Given the description of an element on the screen output the (x, y) to click on. 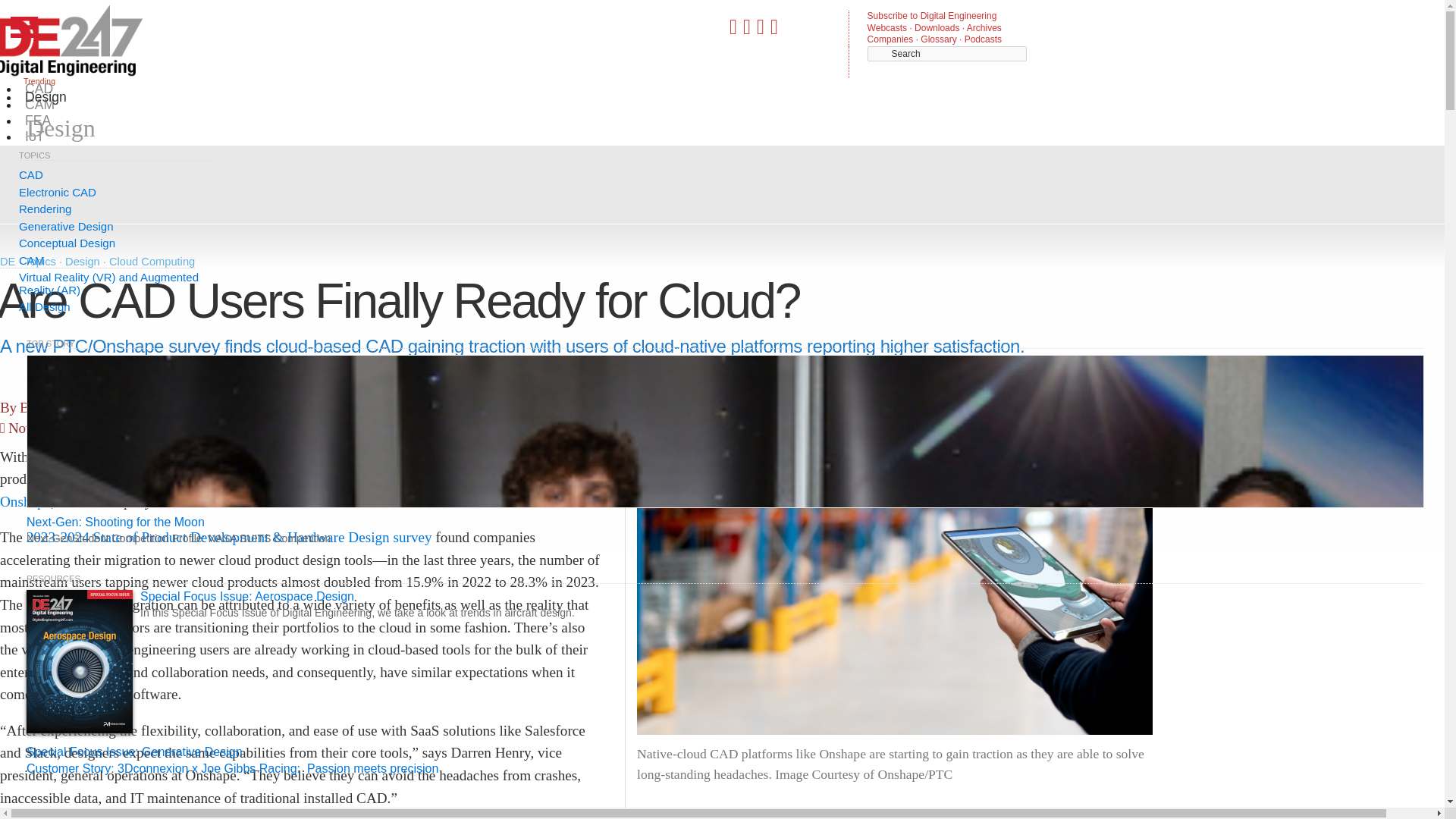
3rd party ad content (571, 182)
